Given the description of an element on the screen output the (x, y) to click on. 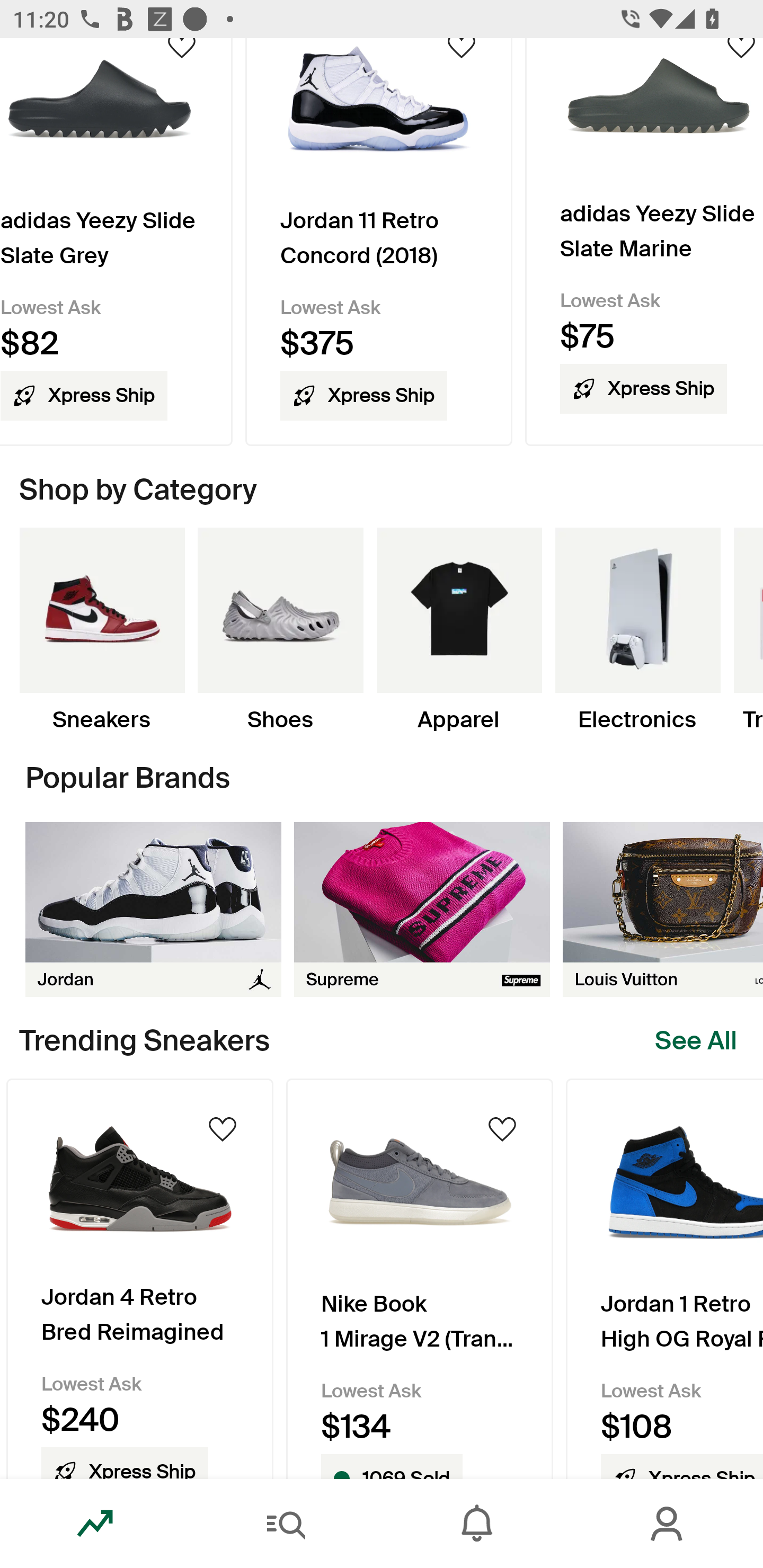
Product Image Sneakers (101, 629)
Product Image Shoes (280, 629)
Product Image Apparel (458, 629)
Product Image Electronics (637, 629)
jordan.jpg (153, 909)
supreme.jpg (421, 909)
lv.jpg (663, 909)
See All (695, 1039)
Search (285, 1523)
Inbox (476, 1523)
Account (667, 1523)
